Given the description of an element on the screen output the (x, y) to click on. 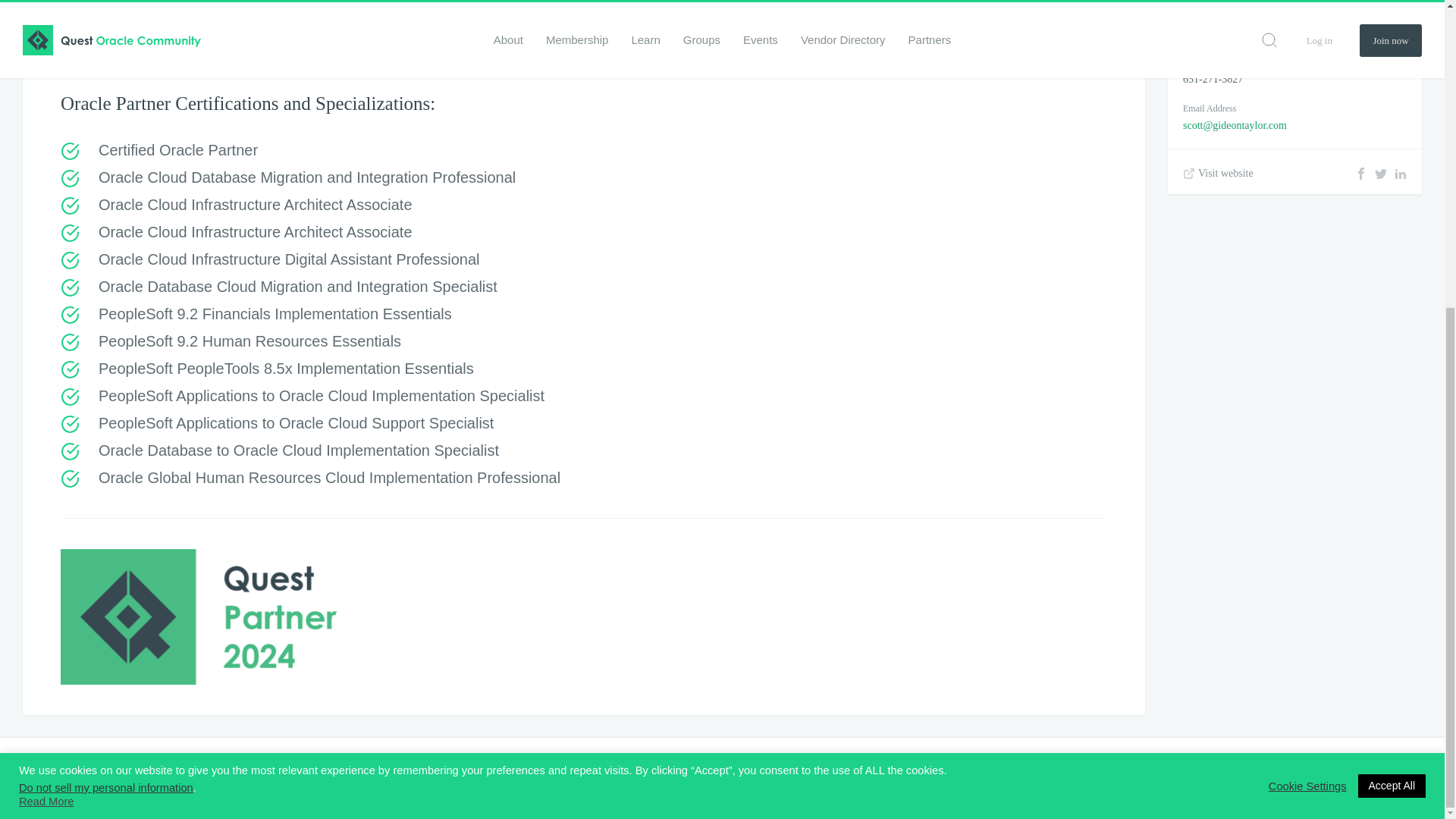
Do not sell my personal information (105, 300)
Visit website (1217, 173)
Gideon Taylor website (1217, 173)
Quest Oracle Community (34, 777)
DEI Statement (352, 778)
FAQ (623, 778)
Read More (46, 314)
Event Marketing Kit (511, 778)
About (582, 778)
Contact (668, 778)
youtube (1414, 779)
Membership (426, 778)
Quest Oracle Community (34, 777)
